Given the description of an element on the screen output the (x, y) to click on. 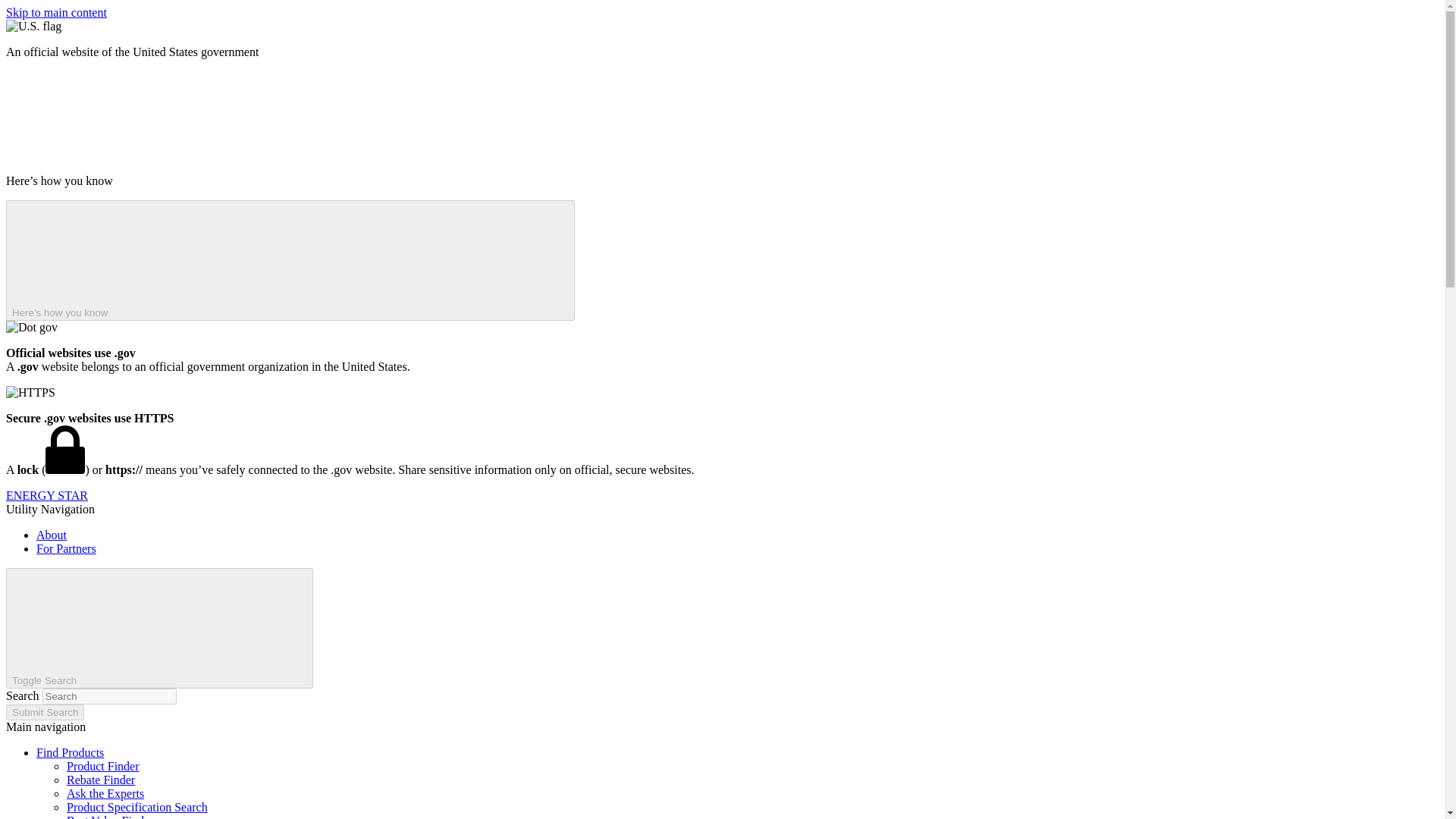
Toggle Search Magnifying Glass Icon (159, 628)
Find Products (69, 752)
ENERGY STAR (46, 495)
Magnifying Glass Icon (193, 626)
Product Specification Search (137, 807)
Product Finder (102, 766)
Ask the Experts (105, 793)
Rebate Finder (100, 779)
Home (46, 495)
Skip to main content (55, 11)
